Given the description of an element on the screen output the (x, y) to click on. 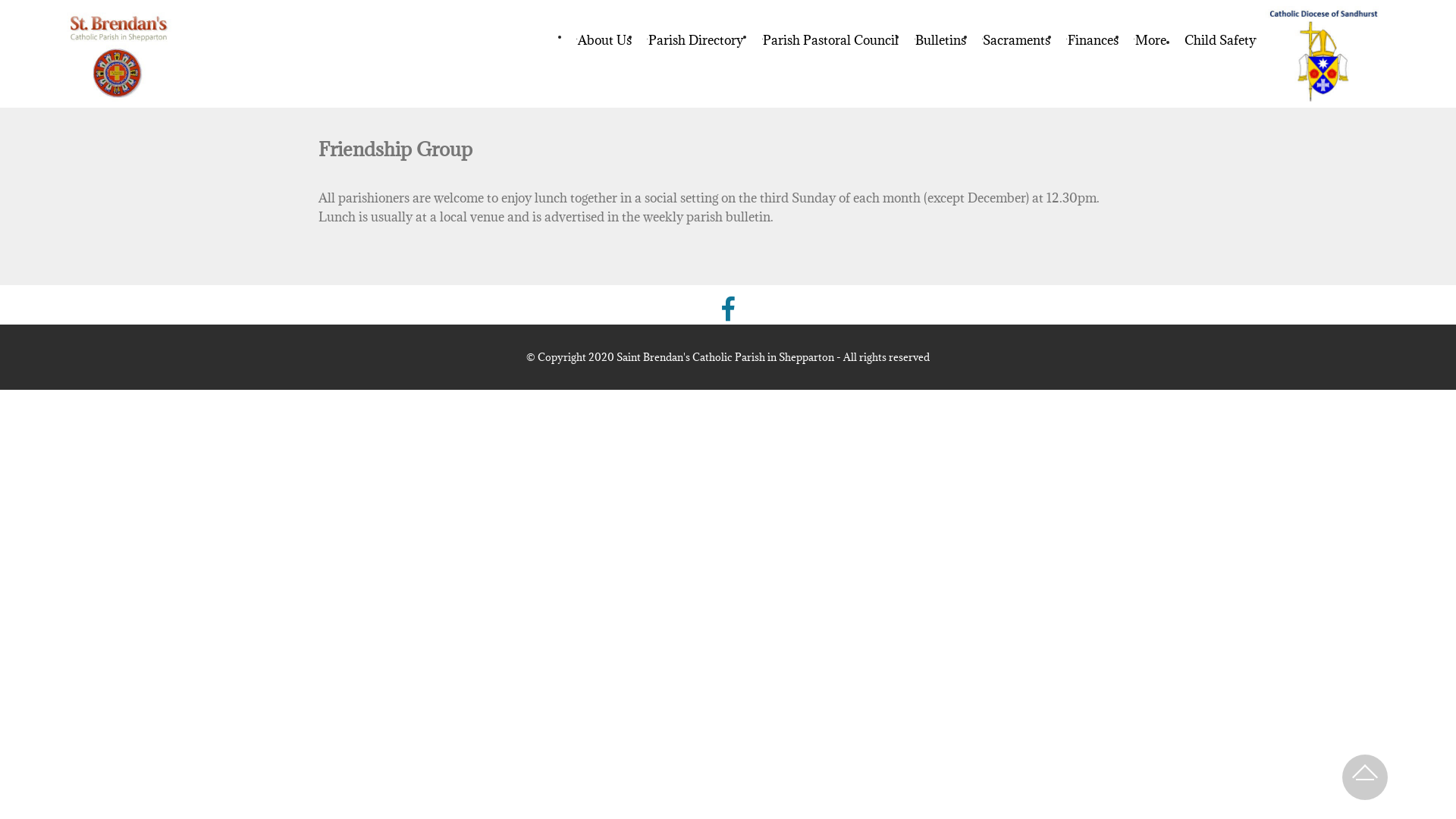
About Us Element type: text (603, 39)
Parish Directory  Element type: text (695, 39)
Parish Pastoral Council Element type: text (830, 39)
Finances Element type: text (1091, 39)
Child Safety Element type: text (1220, 39)
More  Element type: text (1150, 39)
Sacraments Element type: text (1016, 39)
Bulletins Element type: text (940, 39)
